Given the description of an element on the screen output the (x, y) to click on. 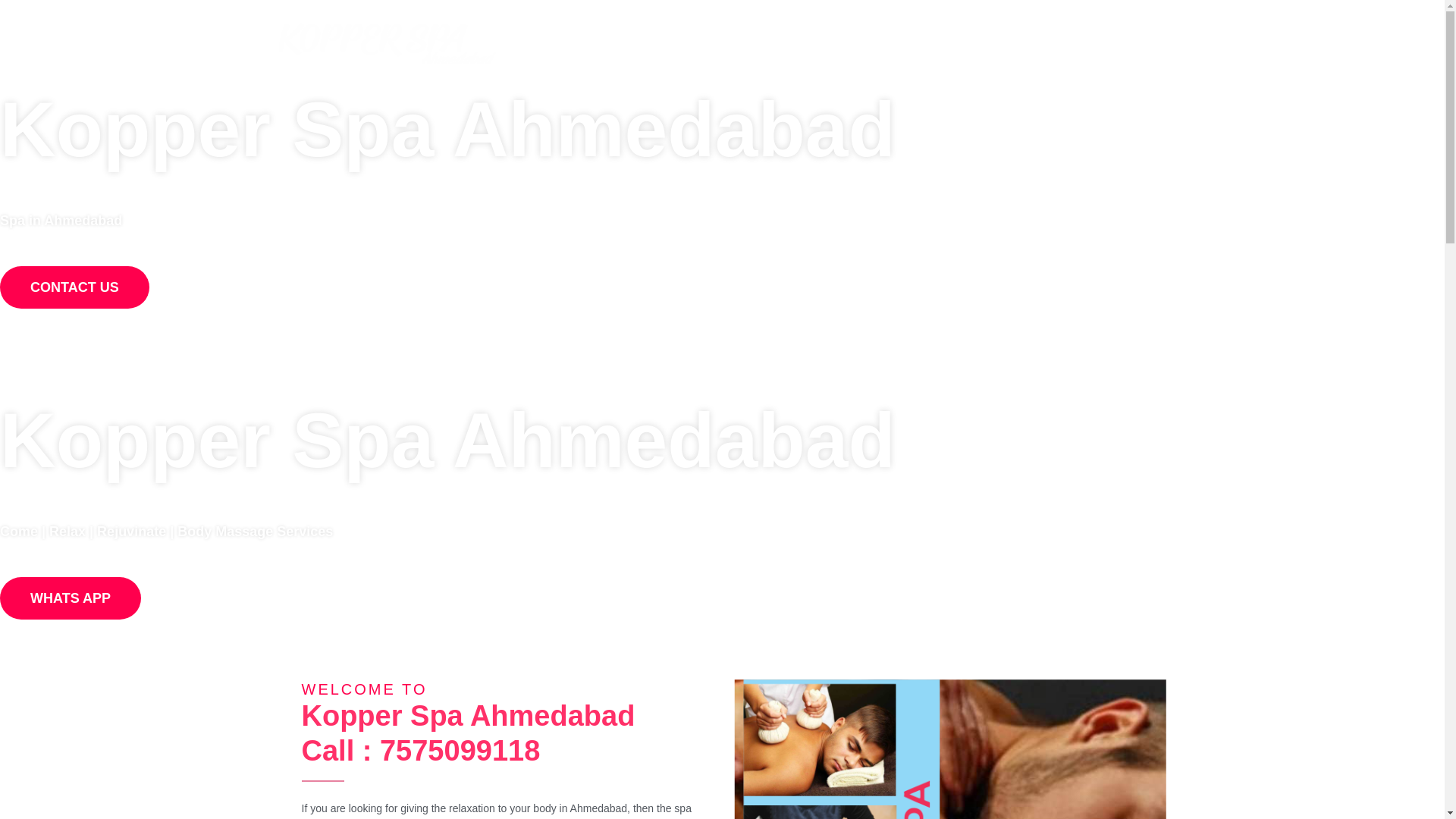
CONTACT PAGE (1026, 39)
WHATS APP (70, 598)
CONTACT US (74, 287)
STAFF GALLERY (919, 39)
ABOUT SPA (711, 39)
OUR SERVICES (805, 39)
WHATS APP (1123, 39)
